Given the description of an element on the screen output the (x, y) to click on. 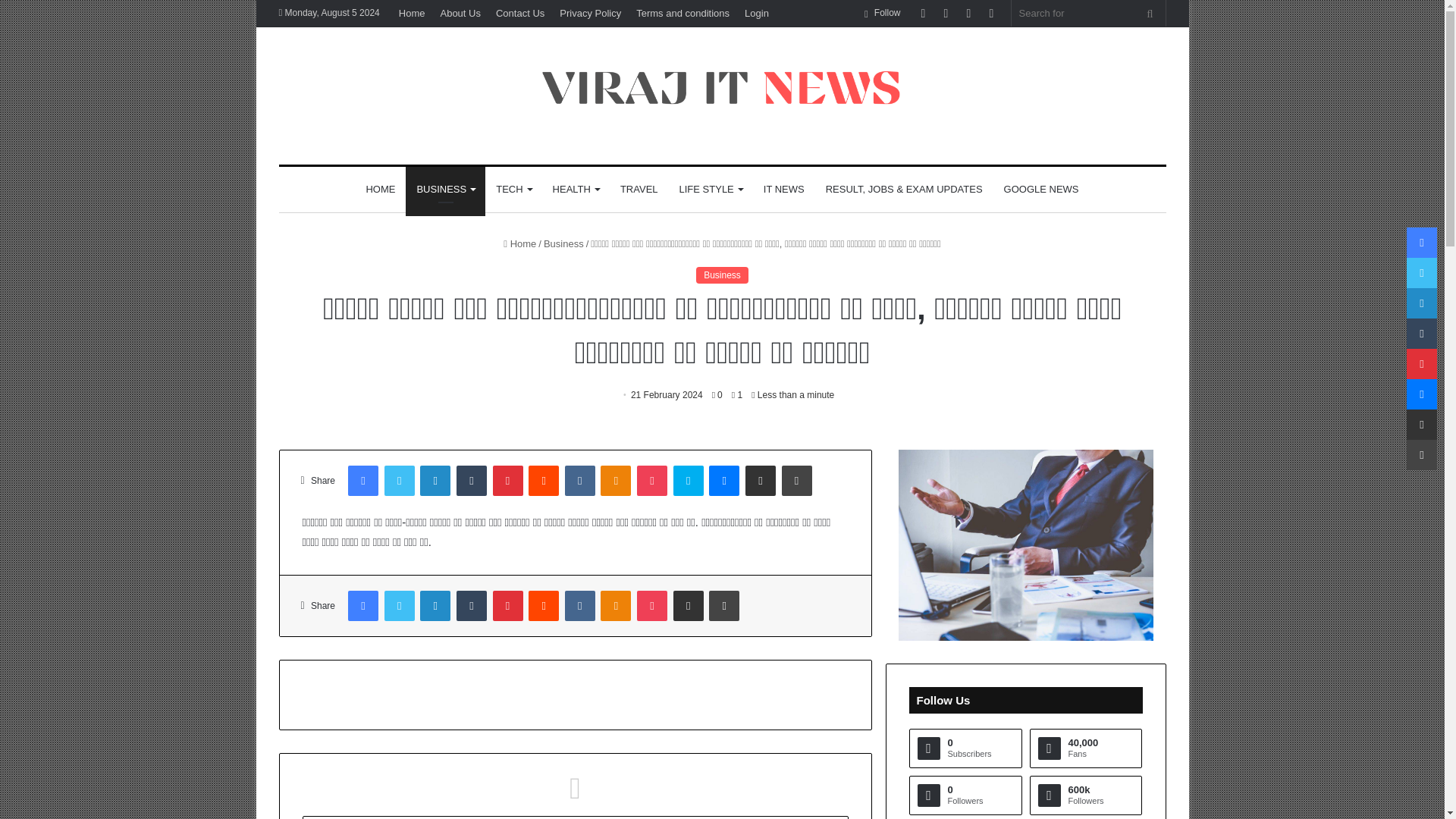
Search for (1088, 13)
Facebook (362, 481)
TRAVEL (639, 189)
Tumblr (471, 481)
Pinterest (507, 481)
LinkedIn (434, 481)
LIFE STYLE (710, 189)
Search for (1150, 13)
Reddit (543, 481)
Terms and conditions (682, 13)
VKontakte (579, 481)
Tumblr (471, 481)
HOME (380, 189)
Odnoklassniki (614, 481)
IT NEWS (783, 189)
